Given the description of an element on the screen output the (x, y) to click on. 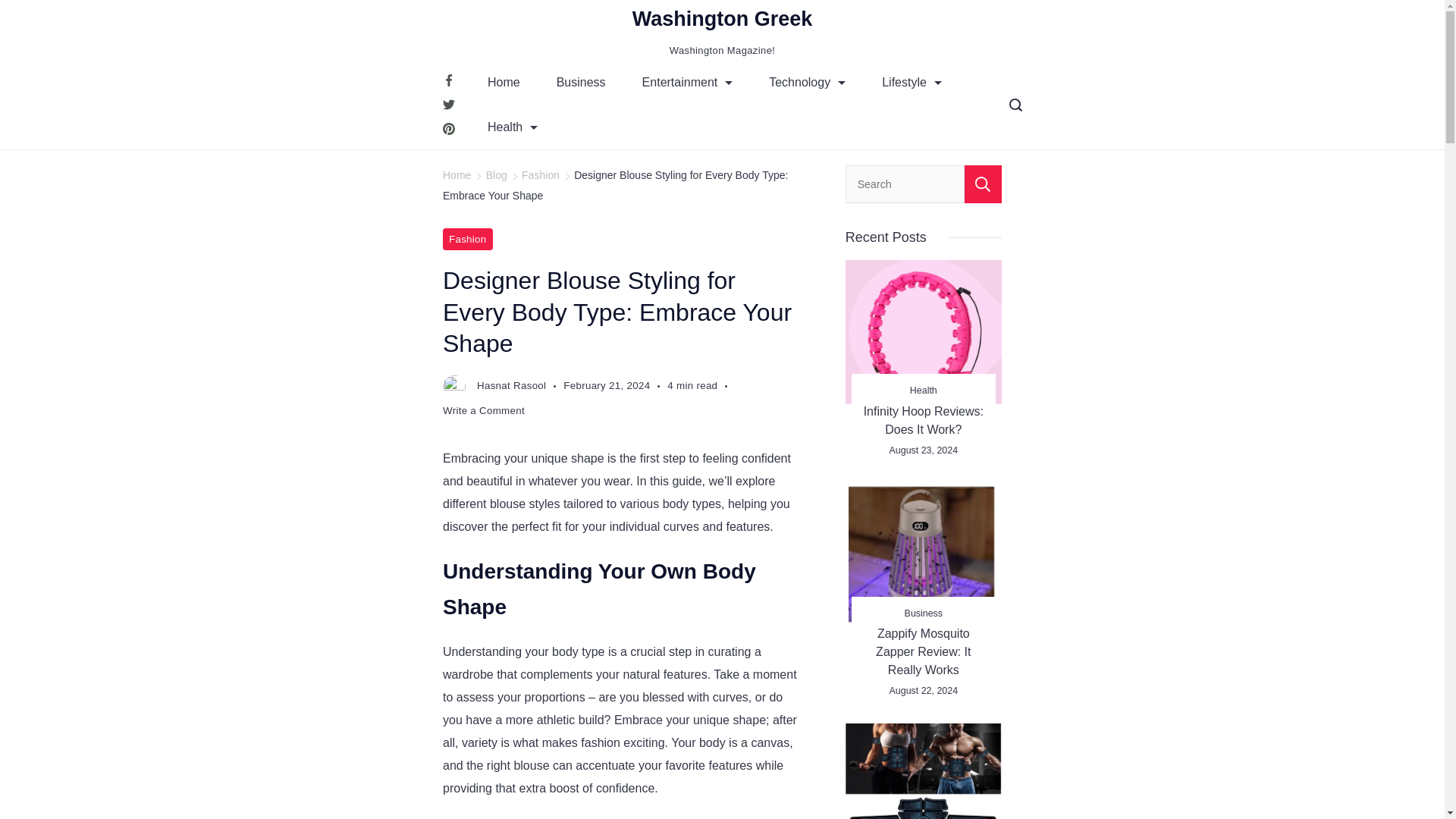
Home (503, 81)
Lifestyle (911, 81)
Business (581, 81)
Washington Greek (721, 18)
Health (512, 126)
Entertainment (687, 81)
Technology (807, 81)
